Given the description of an element on the screen output the (x, y) to click on. 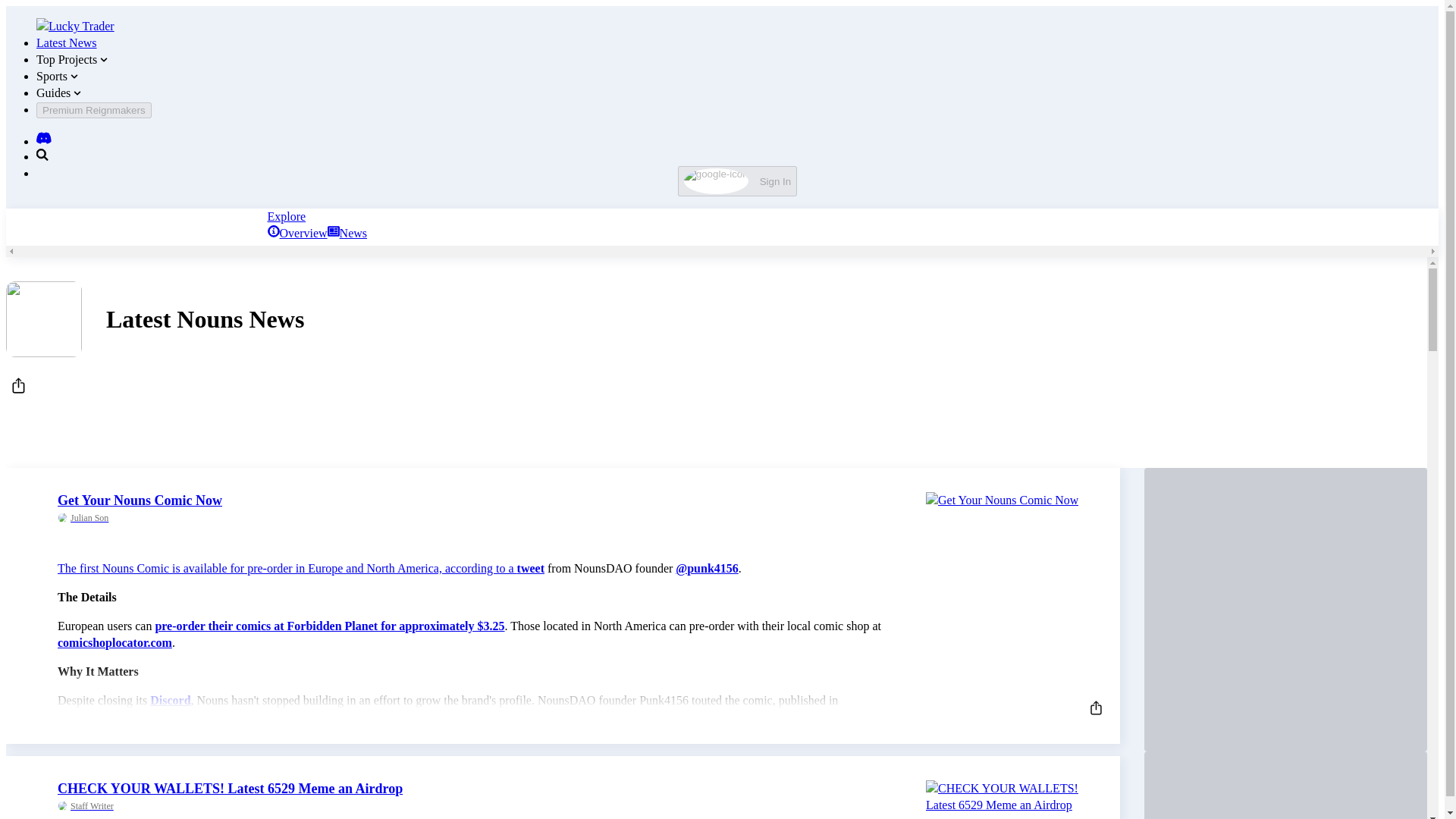
Latest News (66, 42)
